Given the description of an element on the screen output the (x, y) to click on. 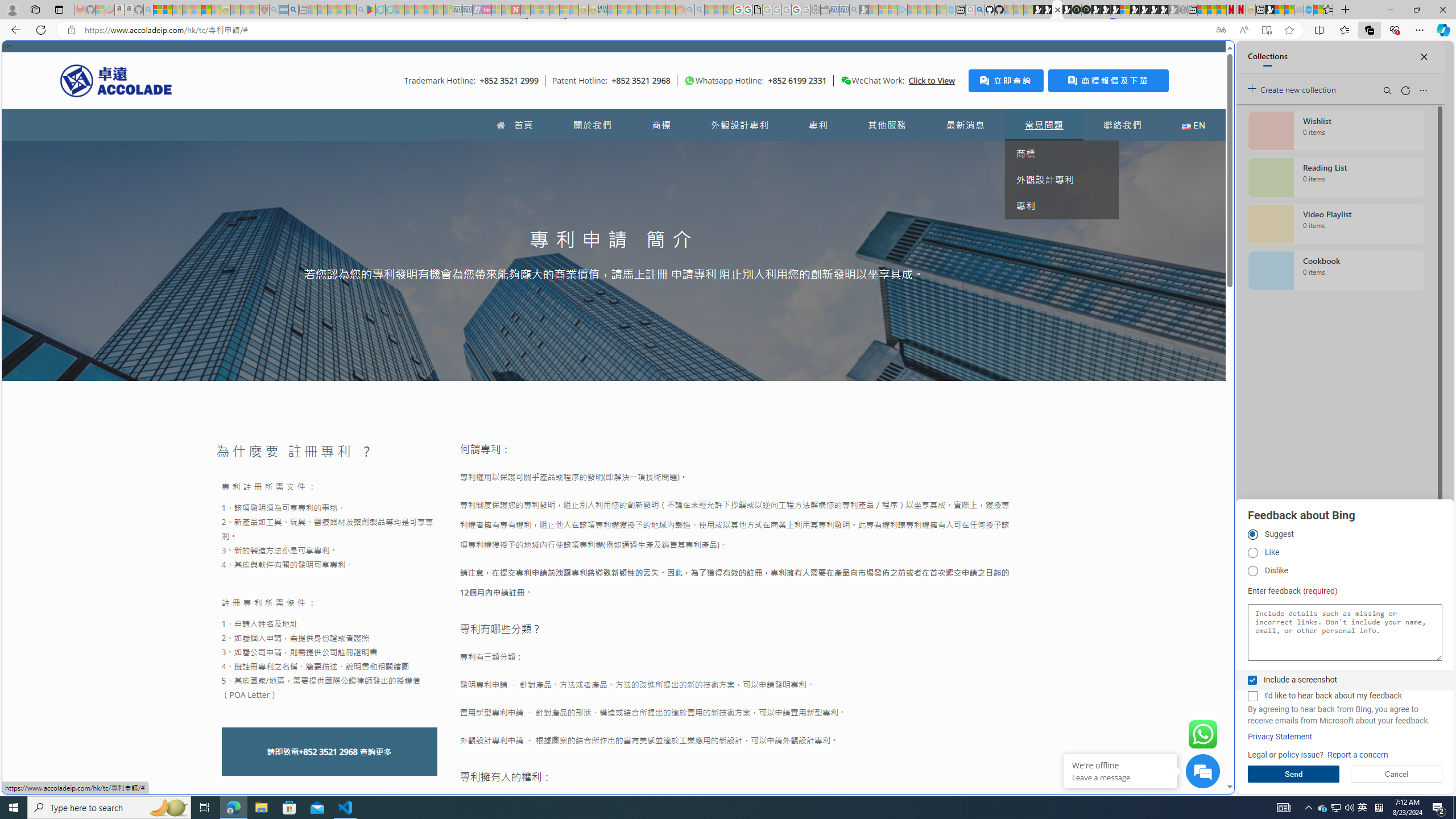
Include a screenshot (1251, 679)
+852 3521 2968 (328, 751)
Home | Sky Blue Bikes - Sky Blue Bikes - Sleeping (950, 9)
Frequently visited (965, 151)
To get missing image descriptions, open the context menu. (689, 80)
MSN (1269, 9)
